Given the description of an element on the screen output the (x, y) to click on. 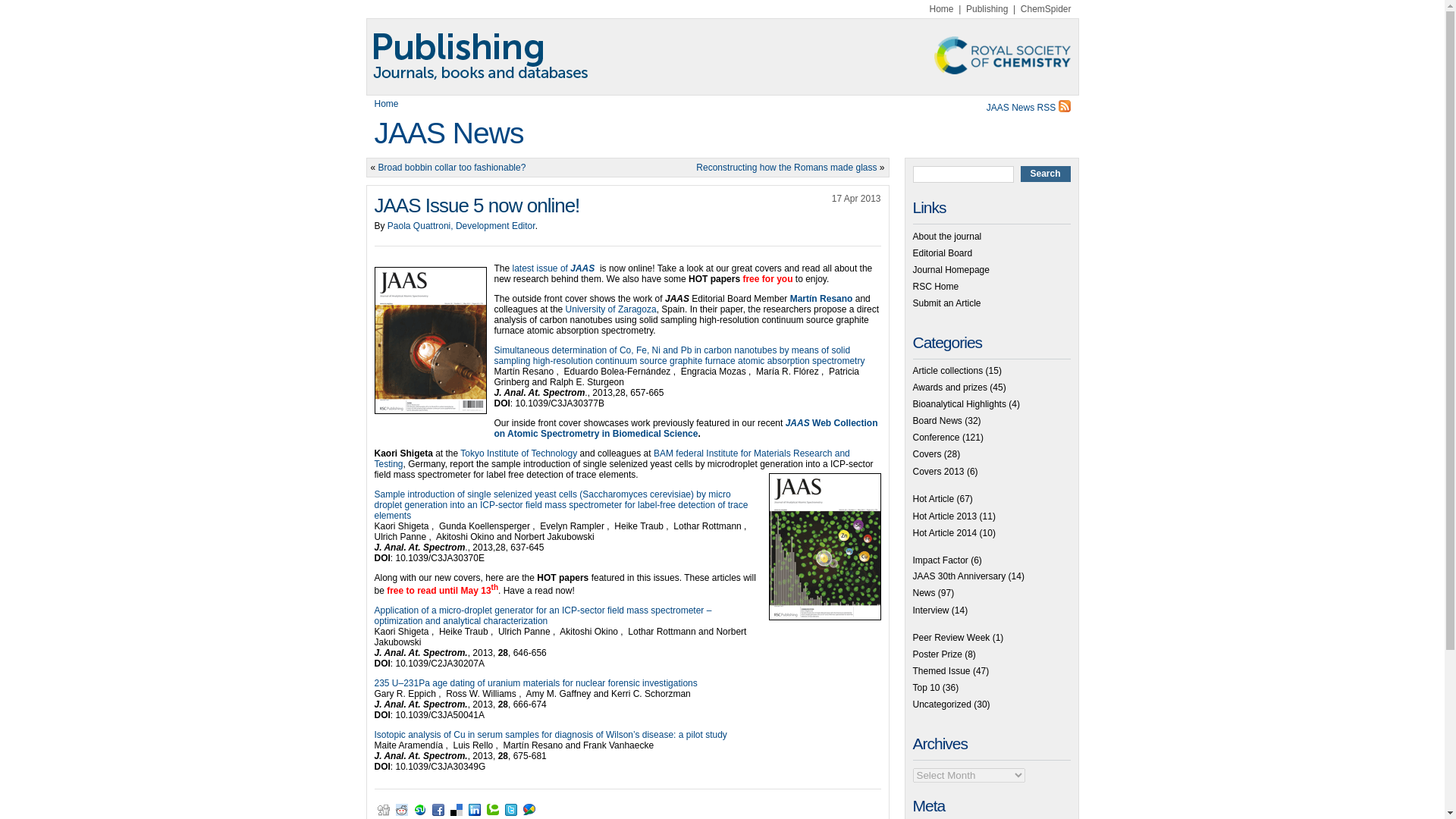
Editorial Board (942, 253)
Journal Homepage (951, 269)
Digg This (383, 809)
University of Zaragoza (611, 308)
Reconstructing how the Romans made glass (785, 167)
Search (1045, 173)
JAAS (799, 422)
RSC Home (935, 286)
Publishing Blogs (722, 56)
Posts by Paola Quattroni, Development Editor (461, 225)
Article collections (948, 370)
Broad bobbin collar too fashionable? (451, 167)
latest issue of JAAS  (555, 267)
Web Collection on Atomic Spectrometry in Biomedical Science (686, 427)
